Given the description of an element on the screen output the (x, y) to click on. 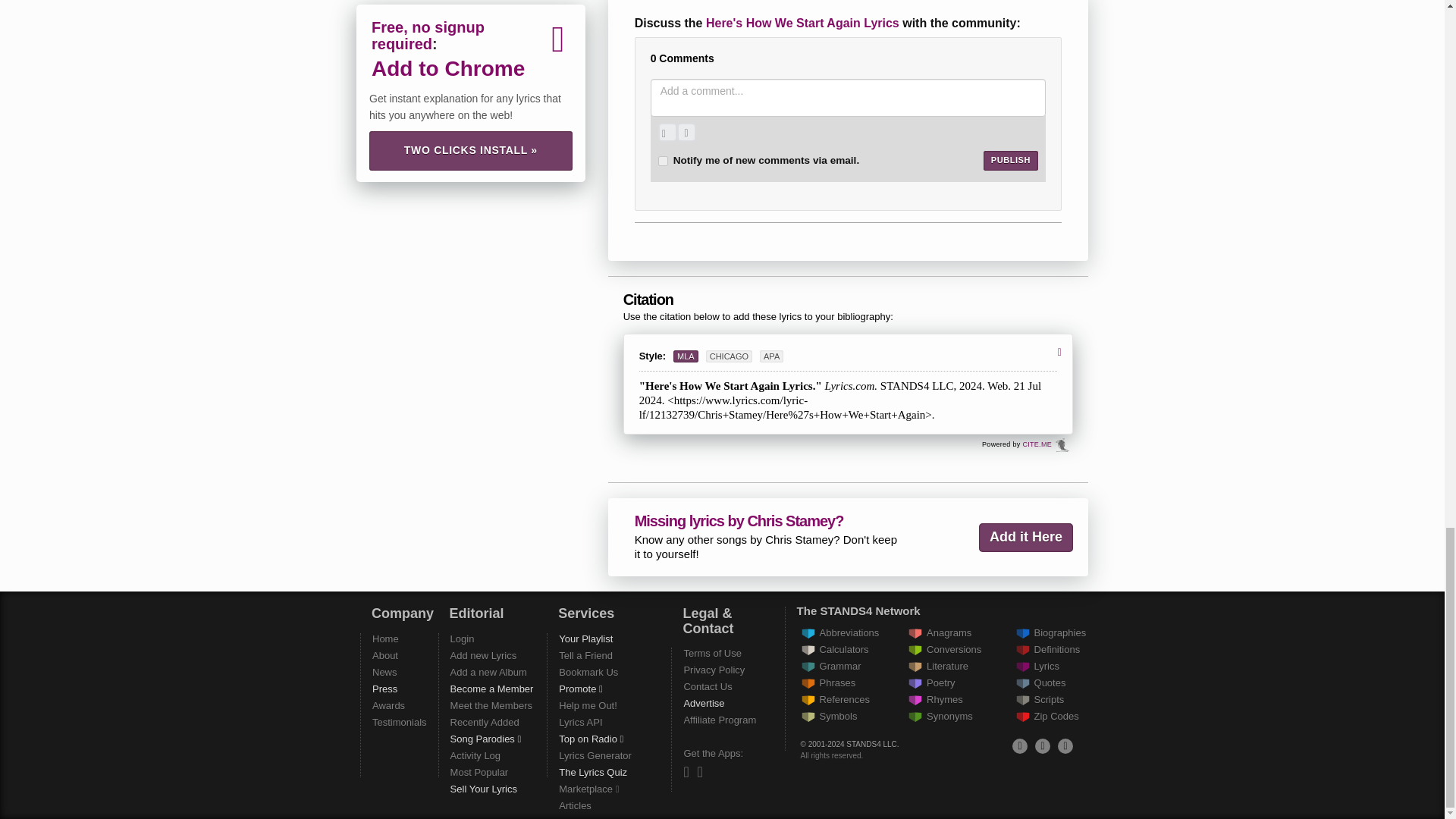
on (663, 161)
